Given the description of an element on the screen output the (x, y) to click on. 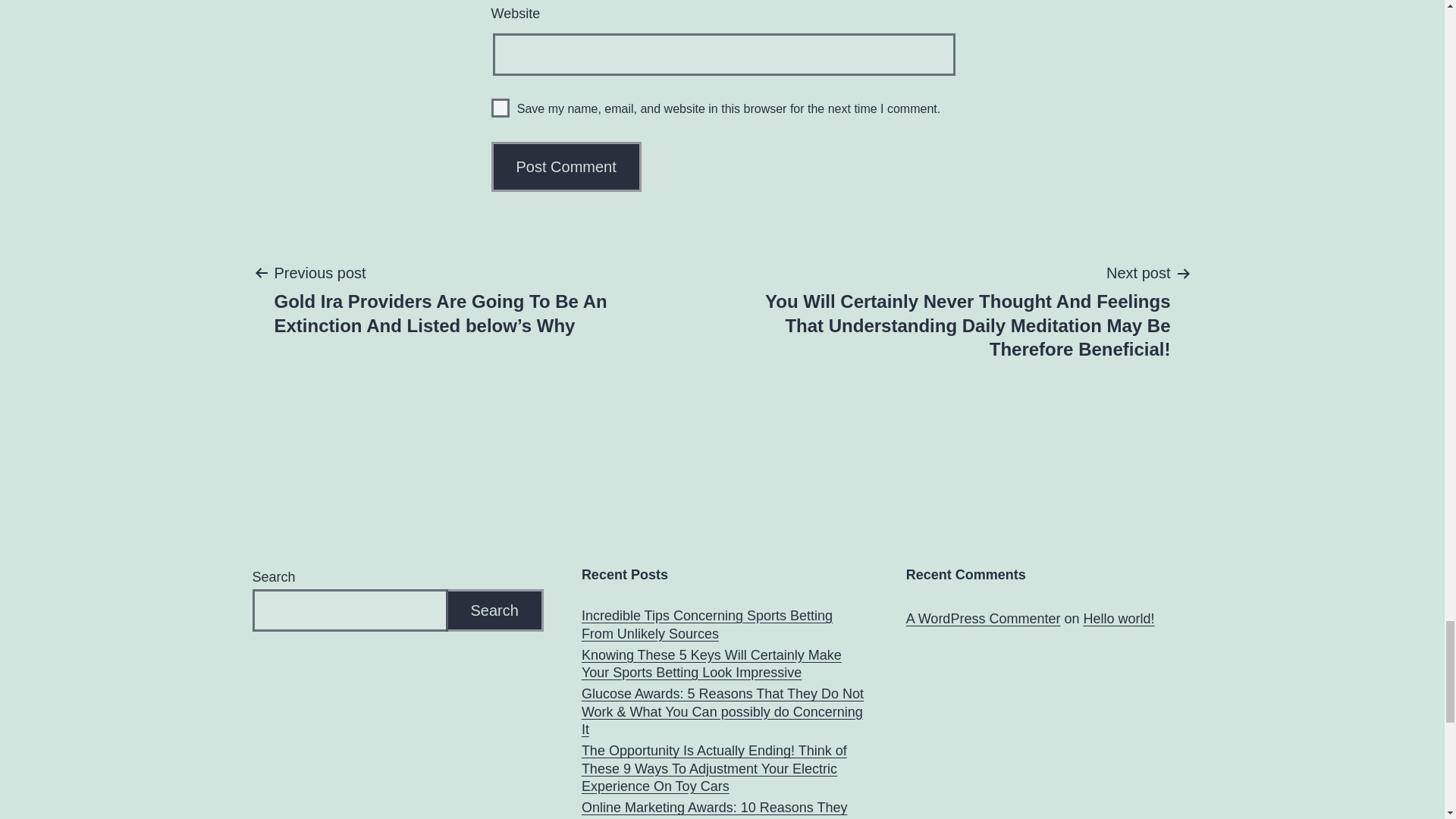
yes (500, 107)
Post Comment (567, 166)
Hello world! (1118, 618)
A WordPress Commenter (983, 618)
Search (494, 610)
Post Comment (567, 166)
